Given the description of an element on the screen output the (x, y) to click on. 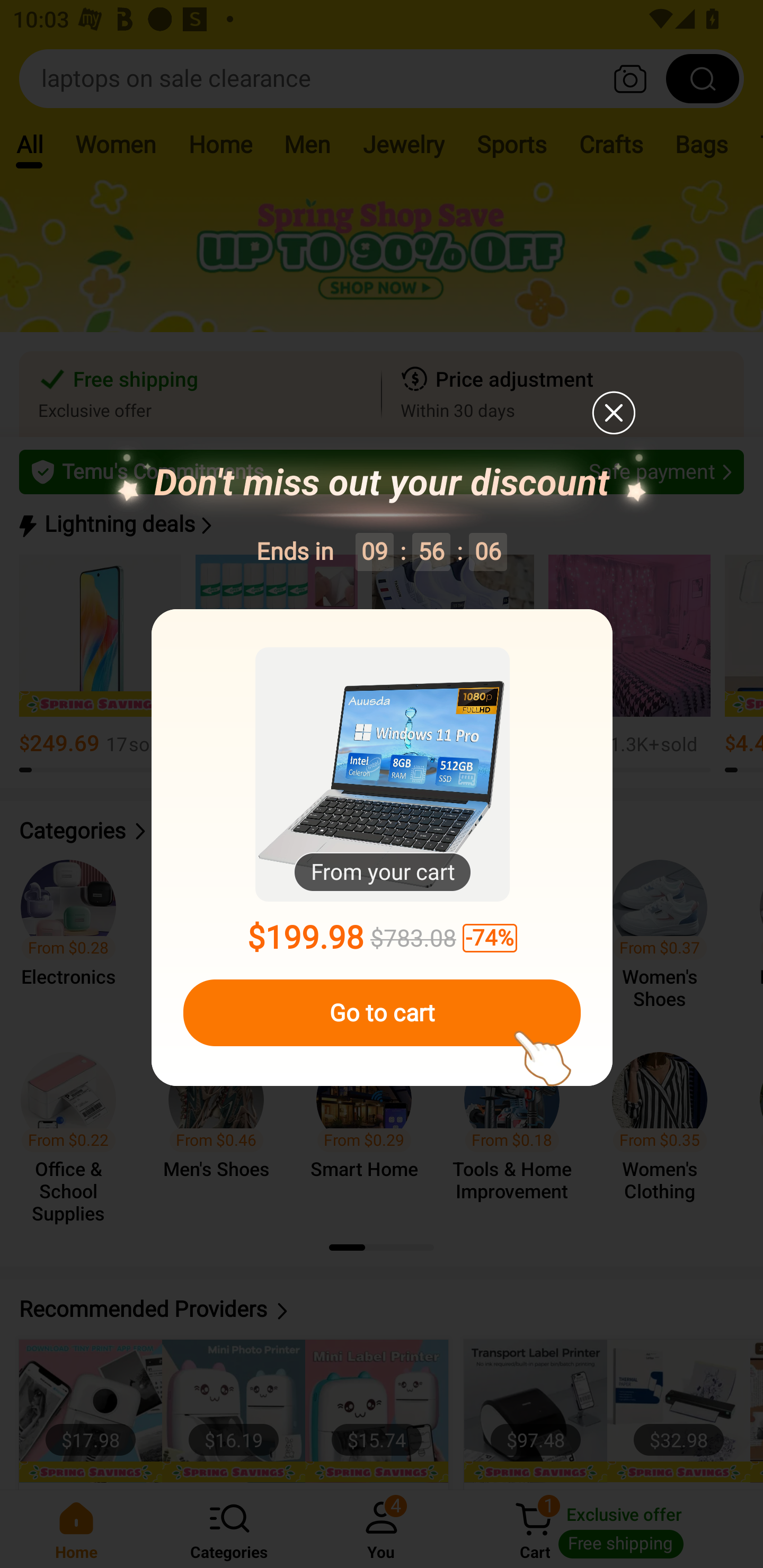
 (612, 412)
From your cart $199.98 $783.08 -74% Go to cart (381, 847)
Go to cart (381, 1012)
